Given the description of an element on the screen output the (x, y) to click on. 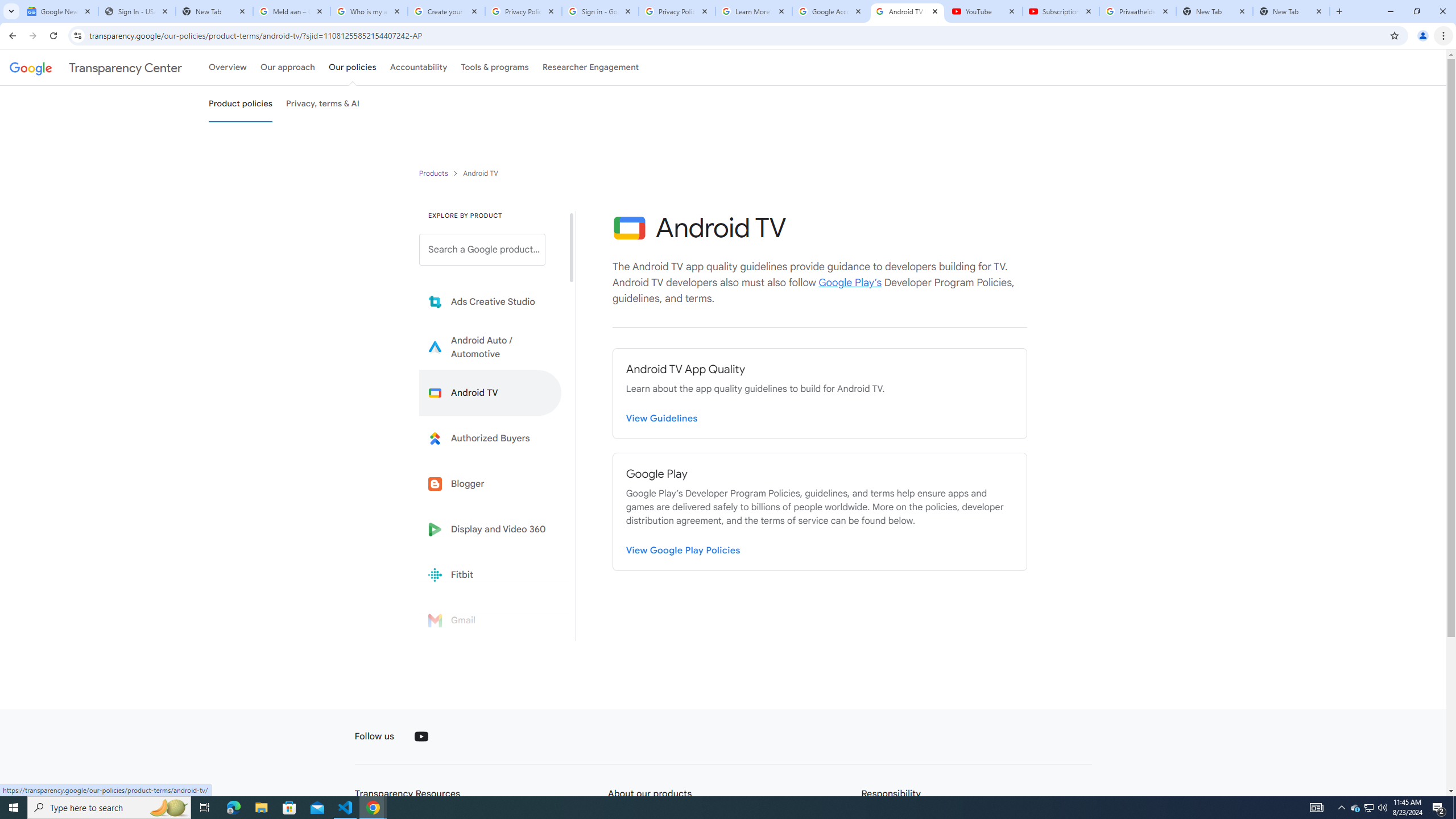
YouTube (983, 11)
Who is my administrator? - Google Account Help (368, 11)
Our approach (287, 67)
Display and Video 360 (490, 529)
YouTube (421, 736)
Learn more about Authorized Buyers (490, 438)
Product policies (434, 173)
View Guidelines (661, 416)
Learn more about Ads Creative Studio (490, 302)
